Given the description of an element on the screen output the (x, y) to click on. 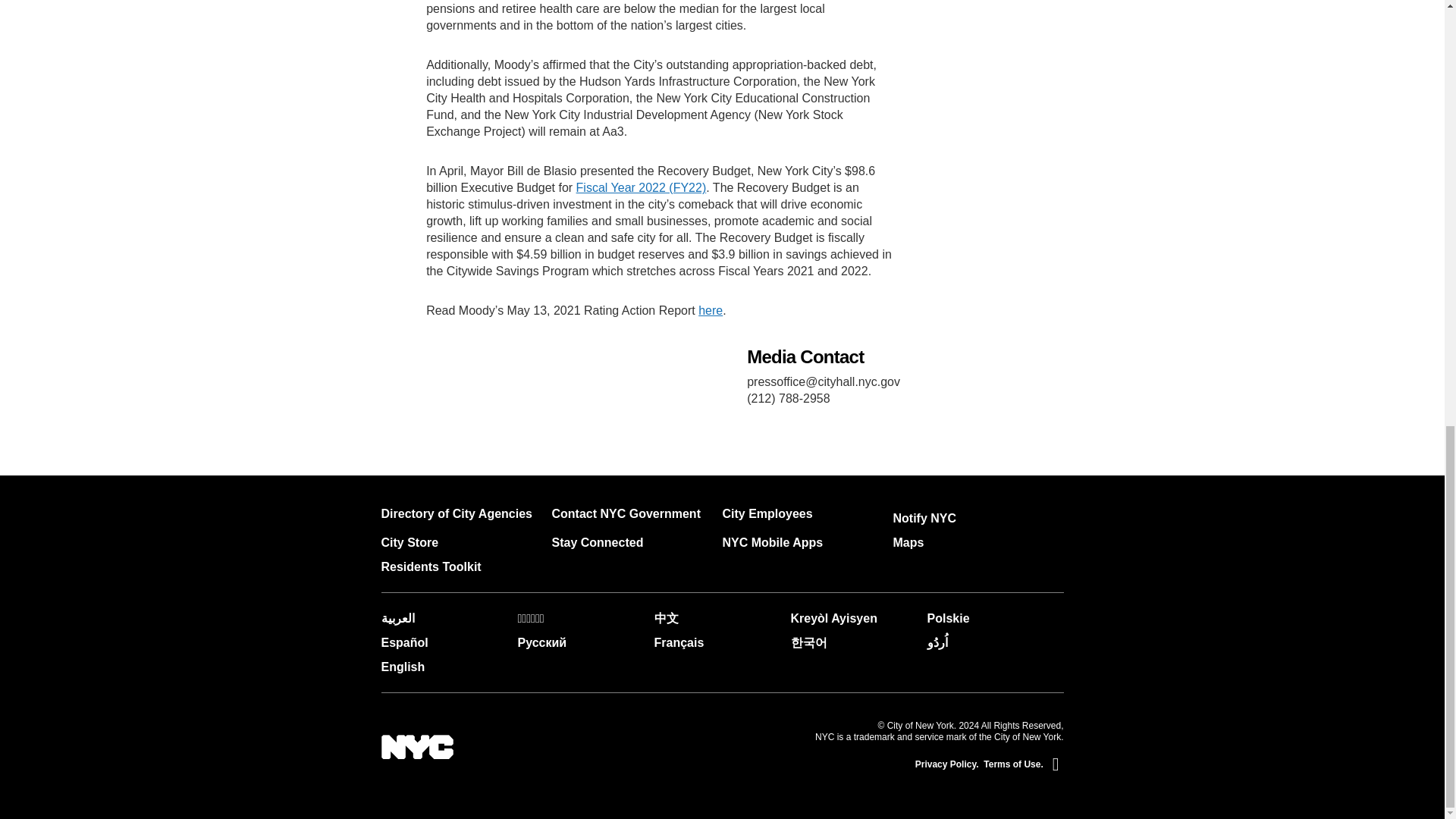
Contact NYC Government (625, 513)
here (710, 309)
City Employees (767, 513)
Notify NYC (924, 517)
Directory of City Agencies (455, 513)
City Store (409, 542)
